Given the description of an element on the screen output the (x, y) to click on. 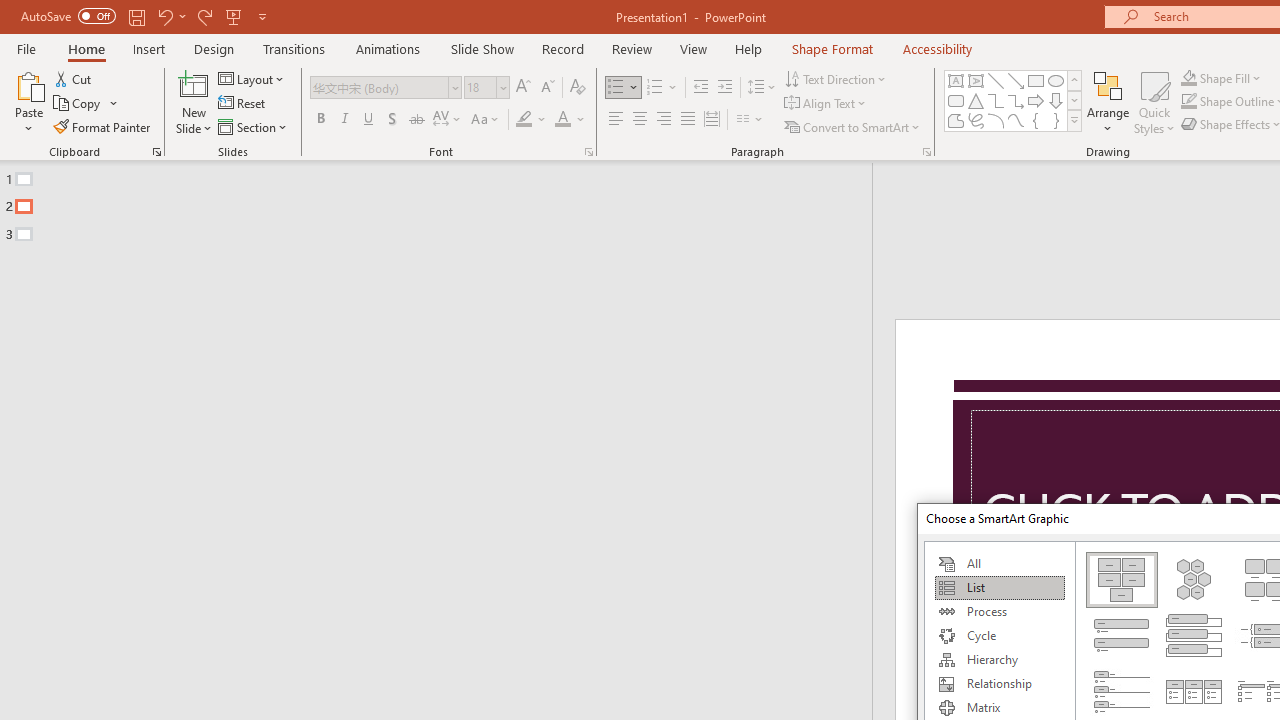
Connector: Elbow Arrow (1016, 100)
Increase Font Size (522, 87)
Transitions (294, 48)
Relationship (999, 683)
Justify (687, 119)
View (693, 48)
Align Left (616, 119)
Shape Outline Blue, Accent 1 (1188, 101)
Increase Indent (725, 87)
List (999, 587)
AutoSave (68, 16)
Clear Formatting (577, 87)
Arrange (1108, 102)
